Given the description of an element on the screen output the (x, y) to click on. 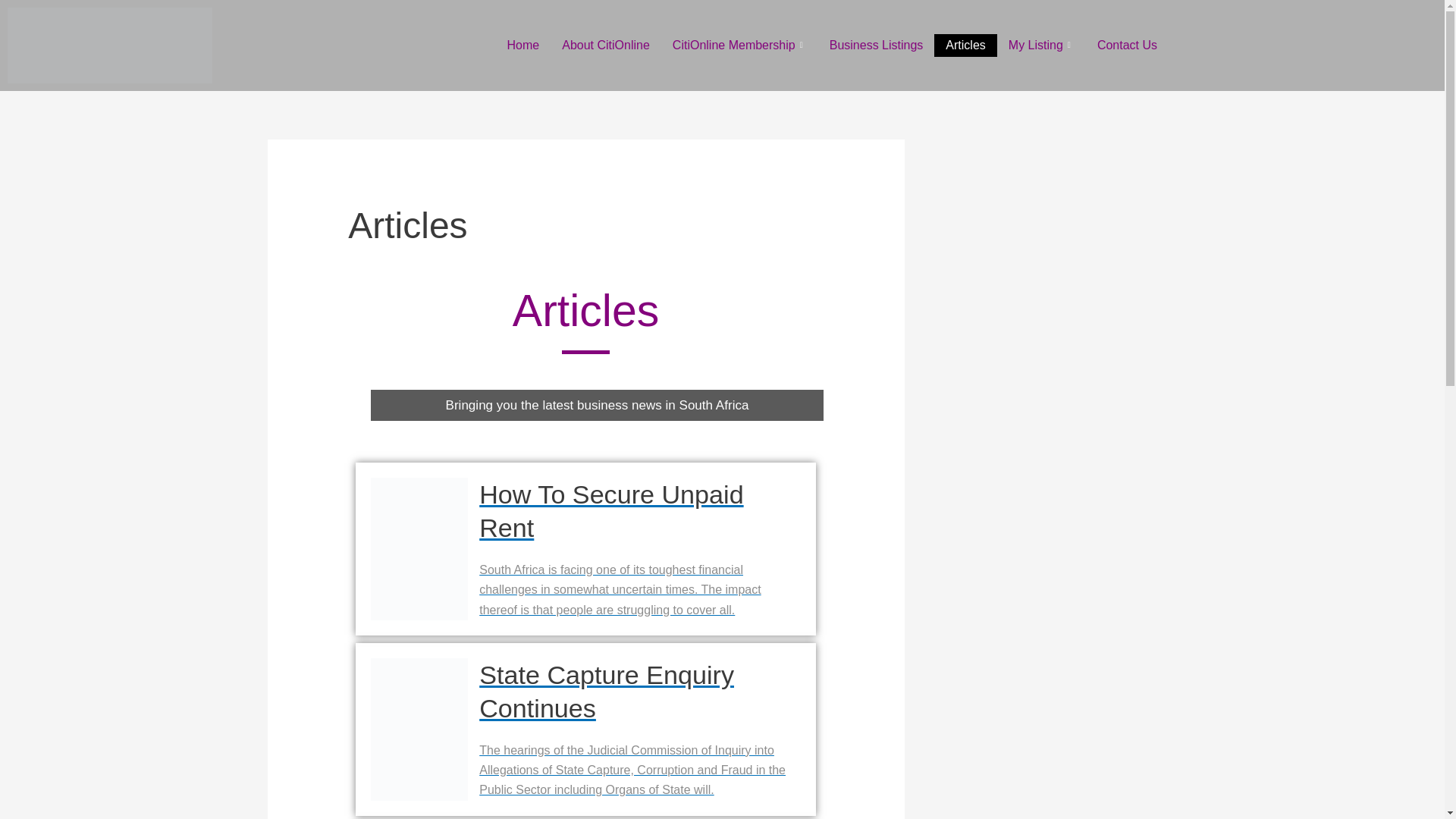
My Listing (1041, 45)
Contact Us (1127, 45)
Home (523, 45)
Articles (964, 45)
Business Listings (876, 45)
CitiOnline Membership (739, 45)
About CitiOnline (605, 45)
